Given the description of an element on the screen output the (x, y) to click on. 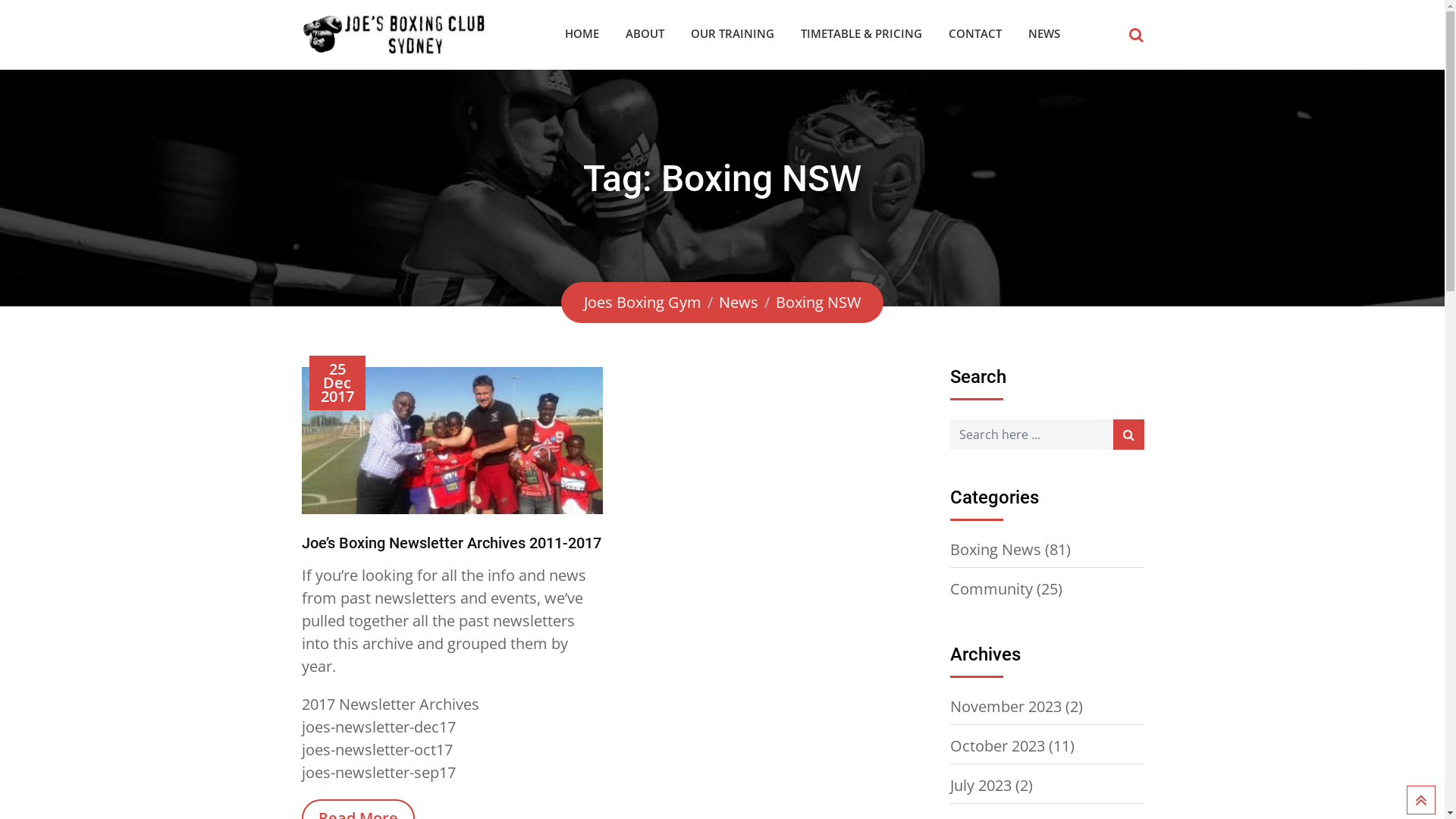
July 2023 Element type: text (979, 785)
Joes Boxing Gym Element type: text (642, 301)
CONTACT Element type: text (975, 33)
HOME Element type: text (581, 33)
ABOUT Element type: text (644, 33)
NEWS Element type: text (1043, 33)
Boxing News Element type: text (994, 549)
TIMETABLE & PRICING Element type: text (860, 33)
News Element type: text (738, 301)
Community Element type: text (990, 588)
November 2023 Element type: text (1004, 706)
OUR TRAINING Element type: text (732, 33)
October 2023 Element type: text (996, 745)
